Given the description of an element on the screen output the (x, y) to click on. 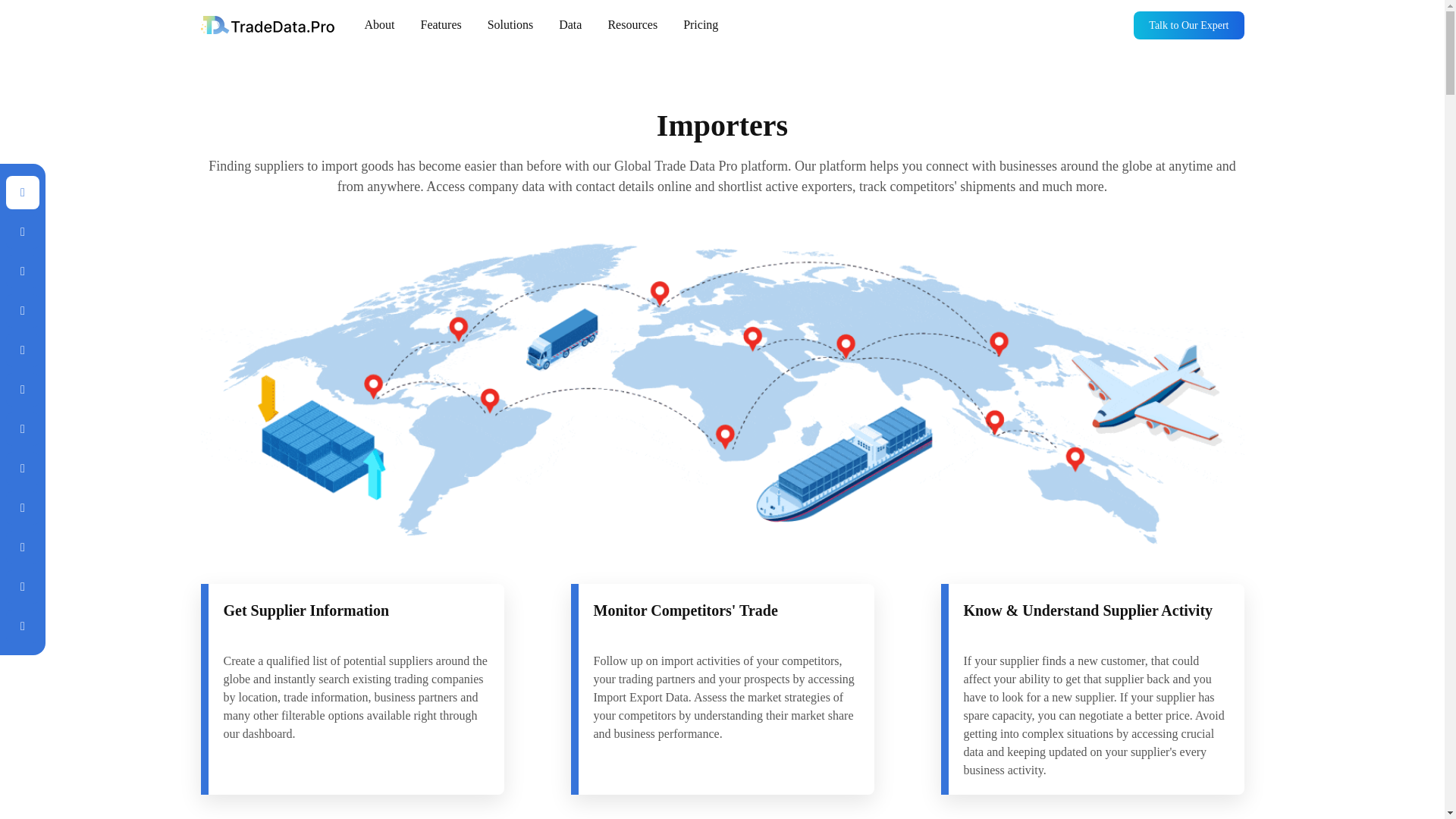
Pricing (699, 24)
Talk to Our Expert (1188, 24)
